Given the description of an element on the screen output the (x, y) to click on. 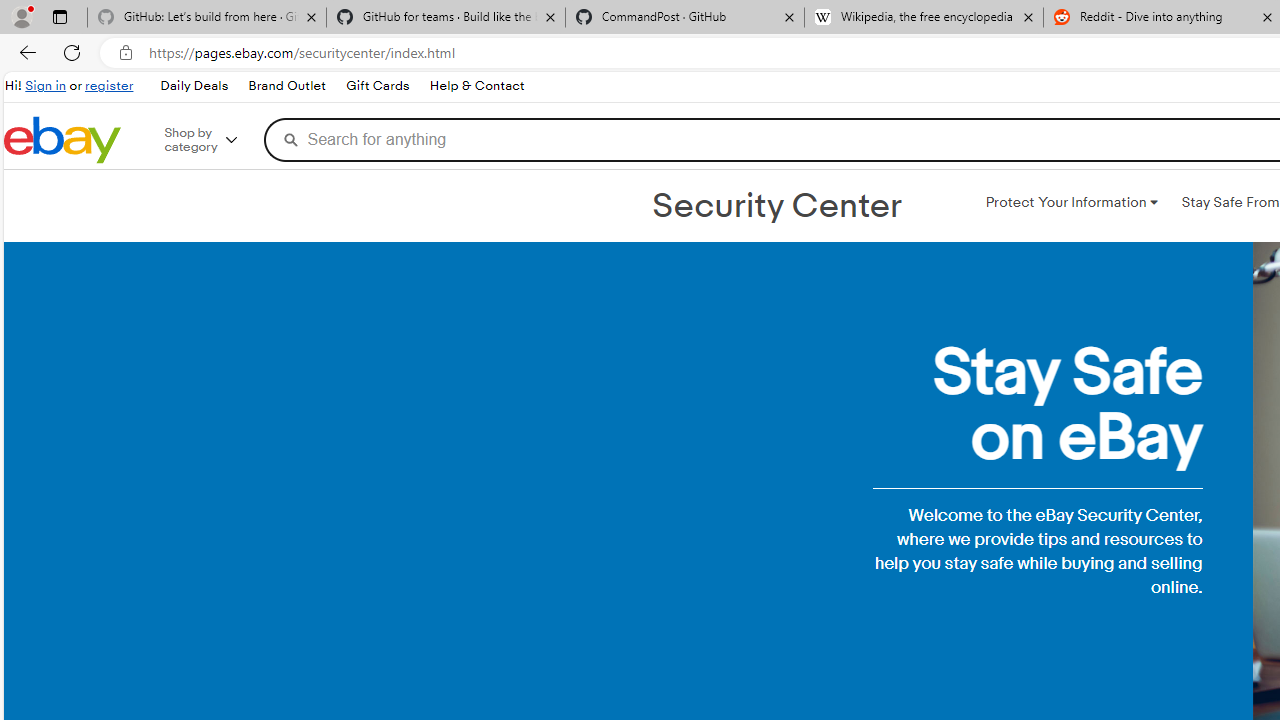
Gift Cards (376, 85)
Daily Deals (193, 85)
Sign in (45, 85)
eBay Home (62, 139)
Security Center (776, 206)
Protect Your Information  (1071, 202)
Brand Outlet (285, 85)
Daily Deals (194, 86)
register (109, 85)
Shop by category (213, 140)
